Given the description of an element on the screen output the (x, y) to click on. 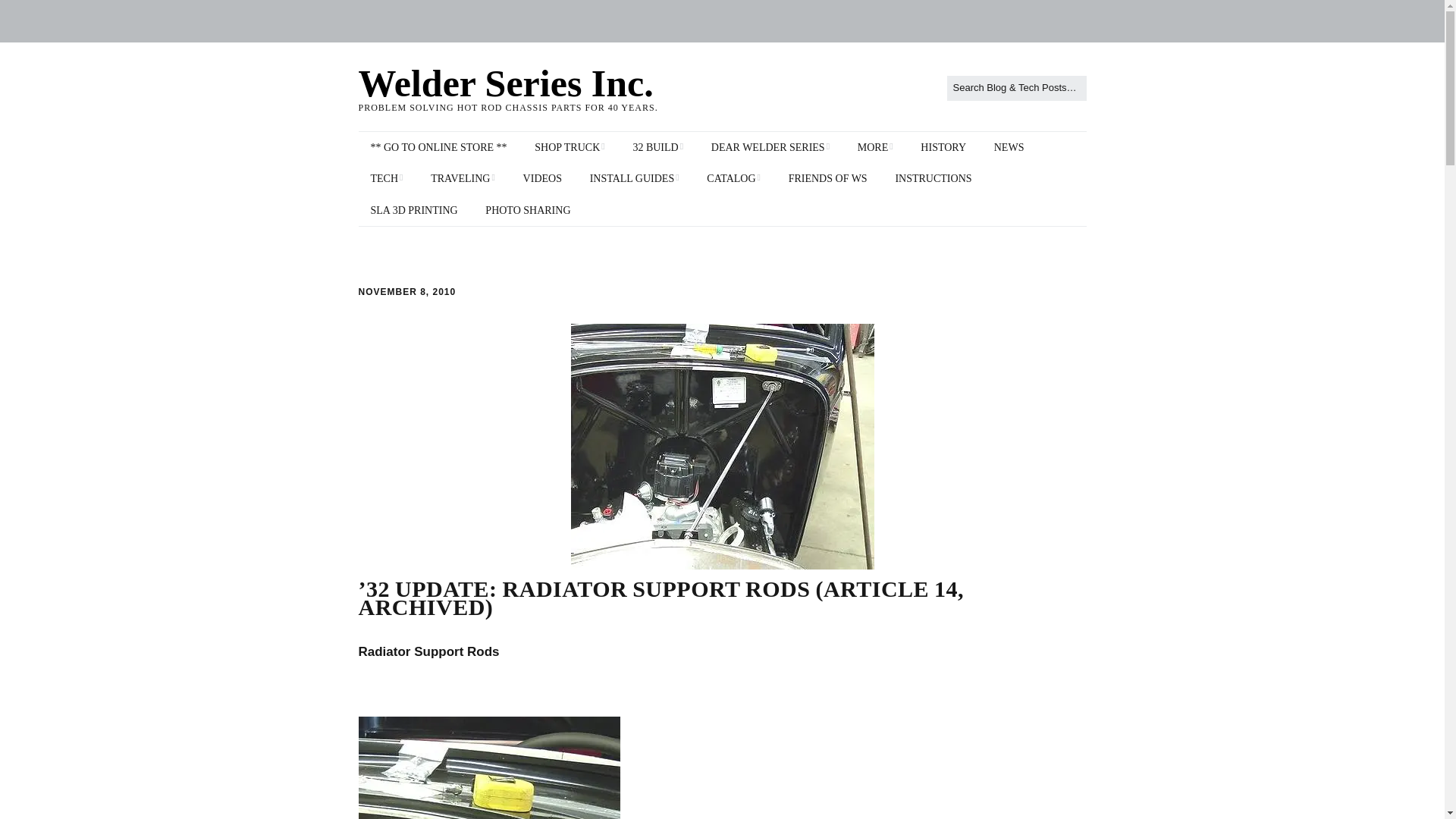
Search (26, 15)
SHOP TRUCK (568, 147)
Press Enter to submit your search (1016, 88)
32 BUILD (657, 147)
Welder Series Inc. (505, 83)
DEAR WELDER SERIES (769, 147)
